Given the description of an element on the screen output the (x, y) to click on. 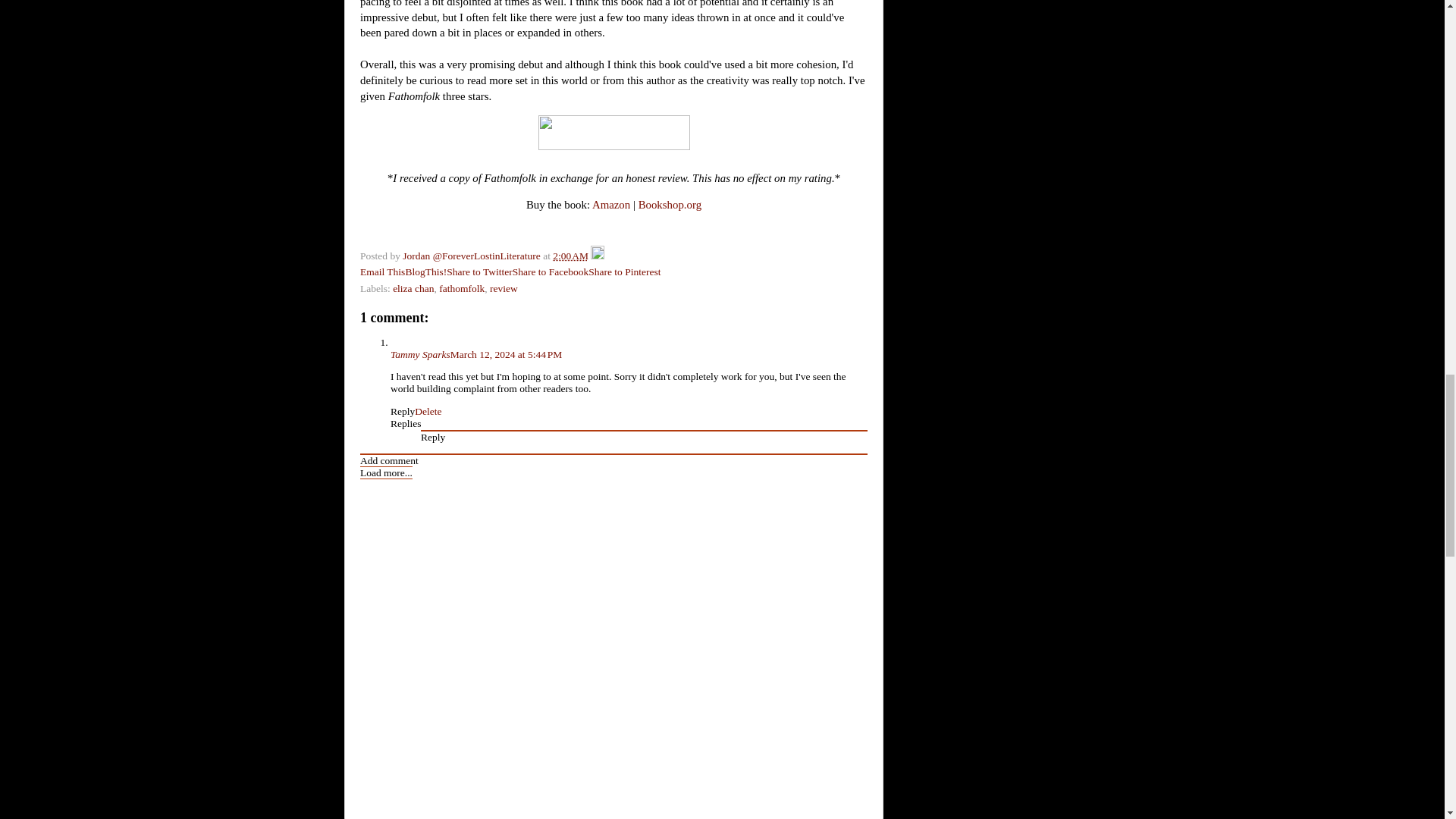
permanent link (570, 255)
Edit Post (597, 255)
Delete (427, 410)
Replies (406, 423)
Email This (381, 271)
Share to Pinterest (624, 271)
review (503, 288)
Share to Twitter (479, 271)
Tammy Sparks (419, 354)
Share to Pinterest (624, 271)
Reply (402, 410)
eliza chan (413, 288)
fathomfolk (461, 288)
